Given the description of an element on the screen output the (x, y) to click on. 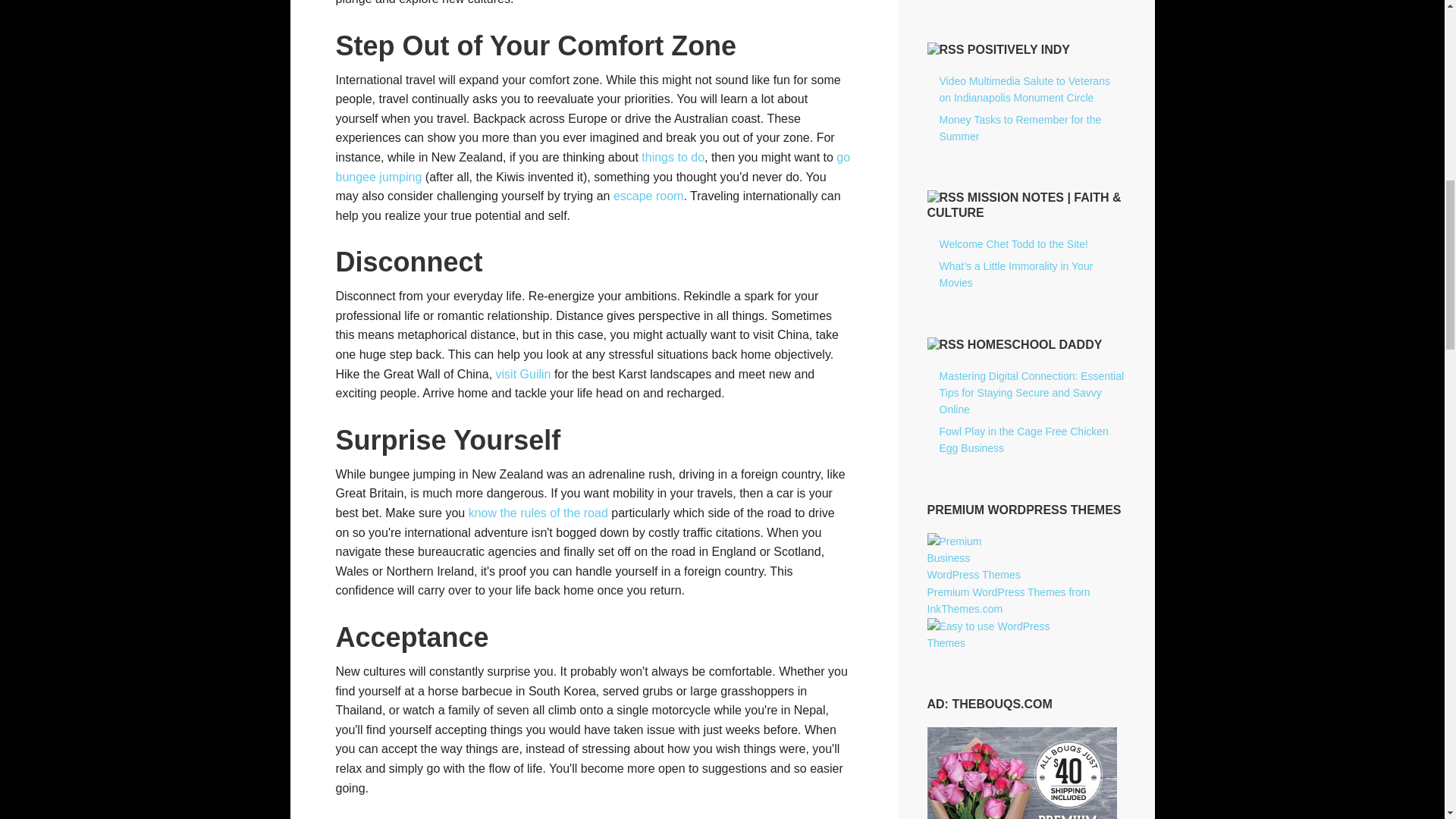
Premium WordPress Themes from InkThemes (1007, 600)
escape room (648, 195)
go bungee jumping (592, 166)
visit Guilin (523, 373)
things to do (673, 156)
know the rules of the road (538, 512)
